Given the description of an element on the screen output the (x, y) to click on. 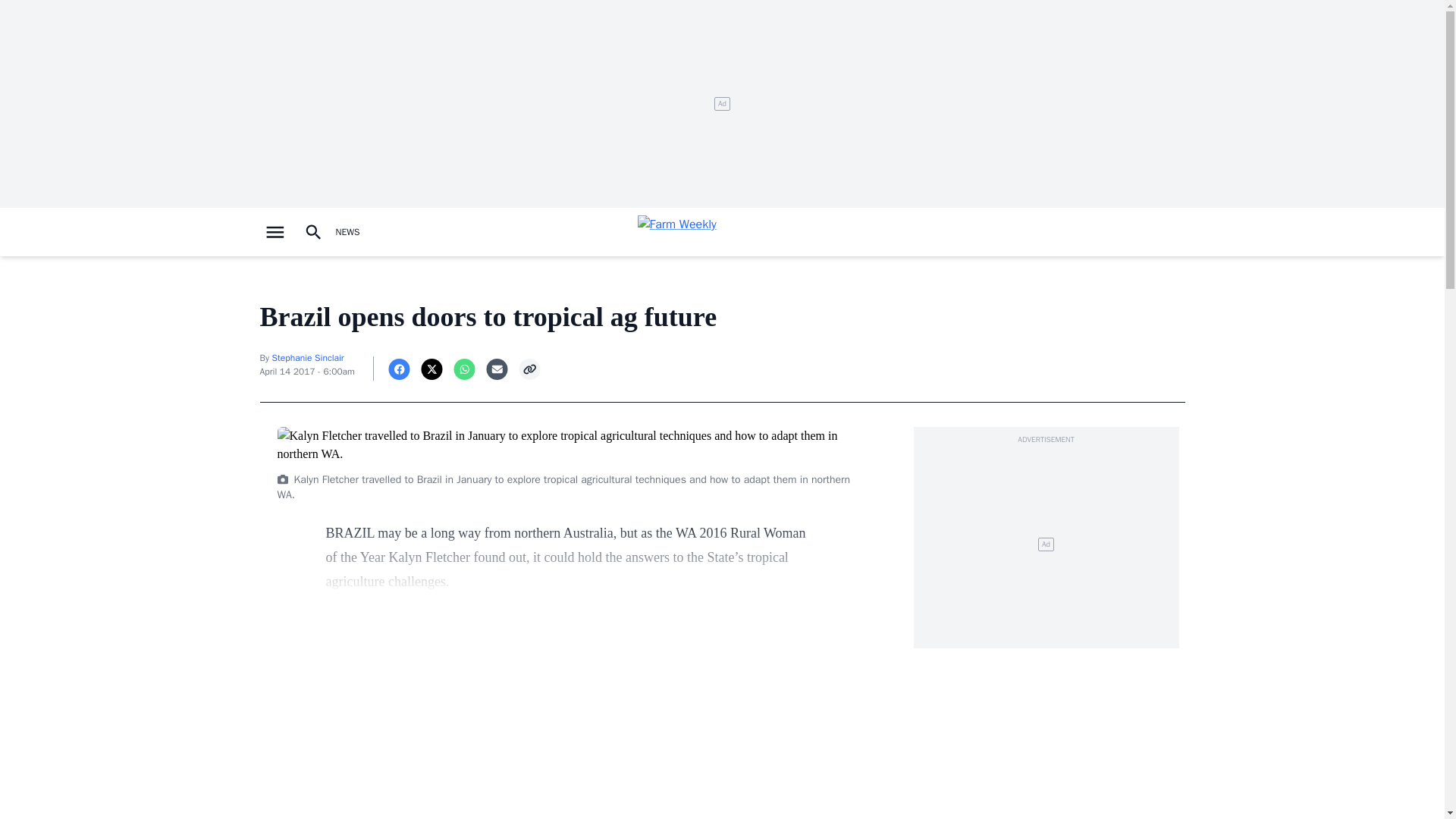
NEWS (347, 232)
